Given the description of an element on the screen output the (x, y) to click on. 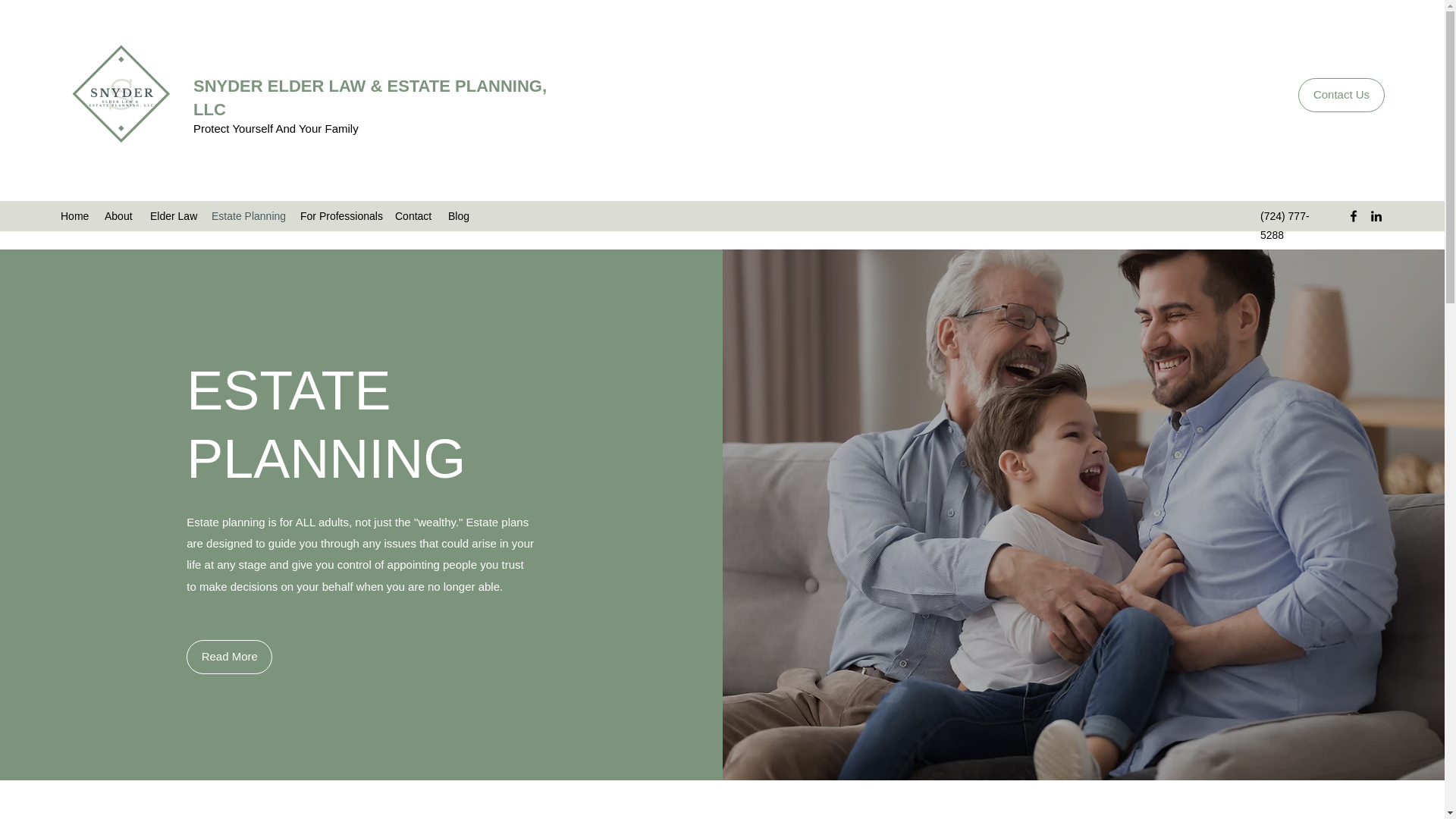
About (119, 215)
Contact (414, 215)
Read More (229, 656)
Elder Law (172, 215)
Home (74, 215)
Estate Planning (247, 215)
Contact Us (1341, 94)
For Professionals (339, 215)
Blog (459, 215)
